Given the description of an element on the screen output the (x, y) to click on. 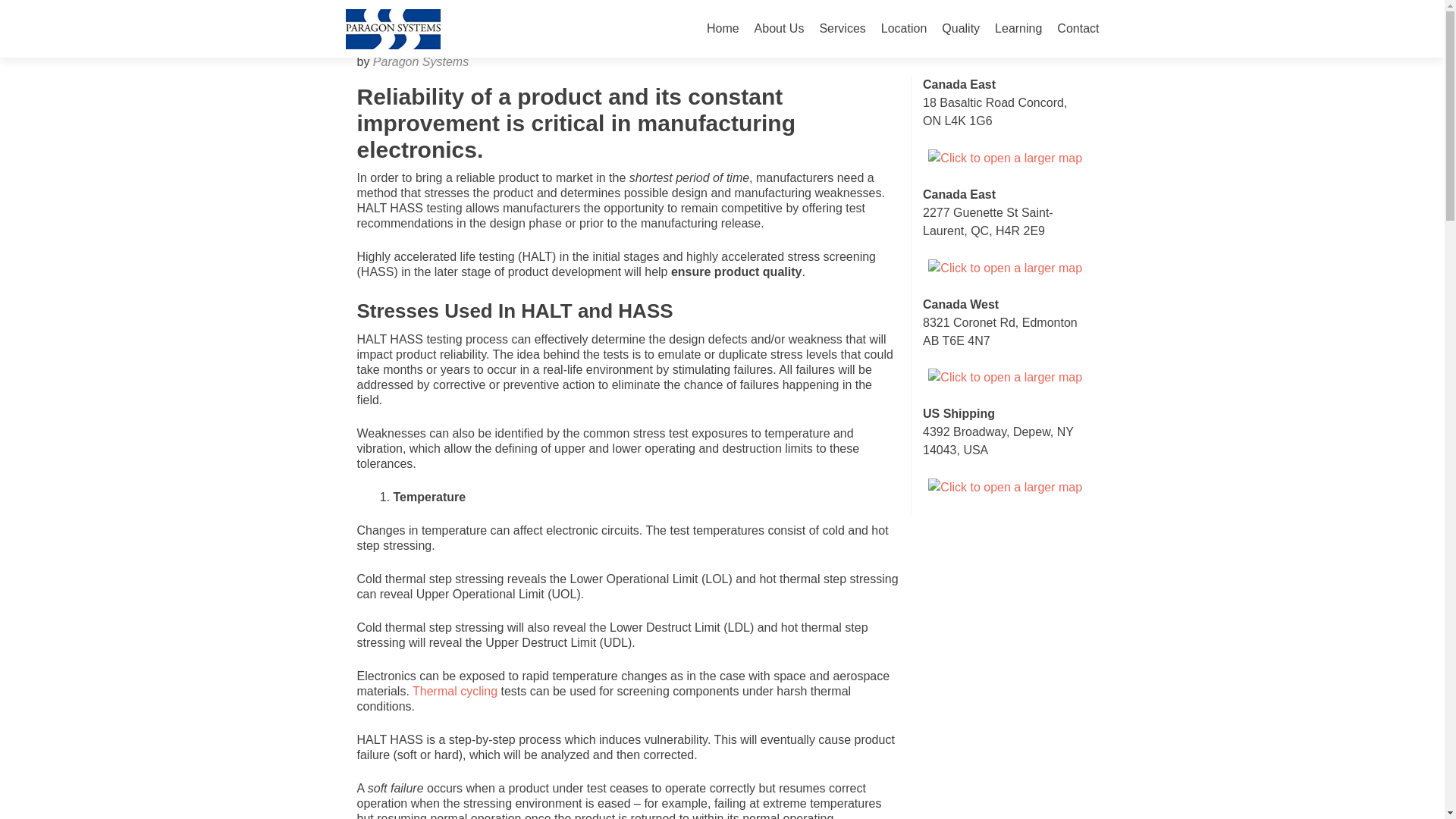
Location (903, 28)
About Us (779, 28)
Services (841, 28)
Learning (1018, 28)
Contact (1078, 28)
Thermal cycling (454, 690)
Home (722, 28)
Click to open a larger map (1004, 158)
Paragon Systems (420, 61)
Click to open a larger map (1004, 377)
